Given the description of an element on the screen output the (x, y) to click on. 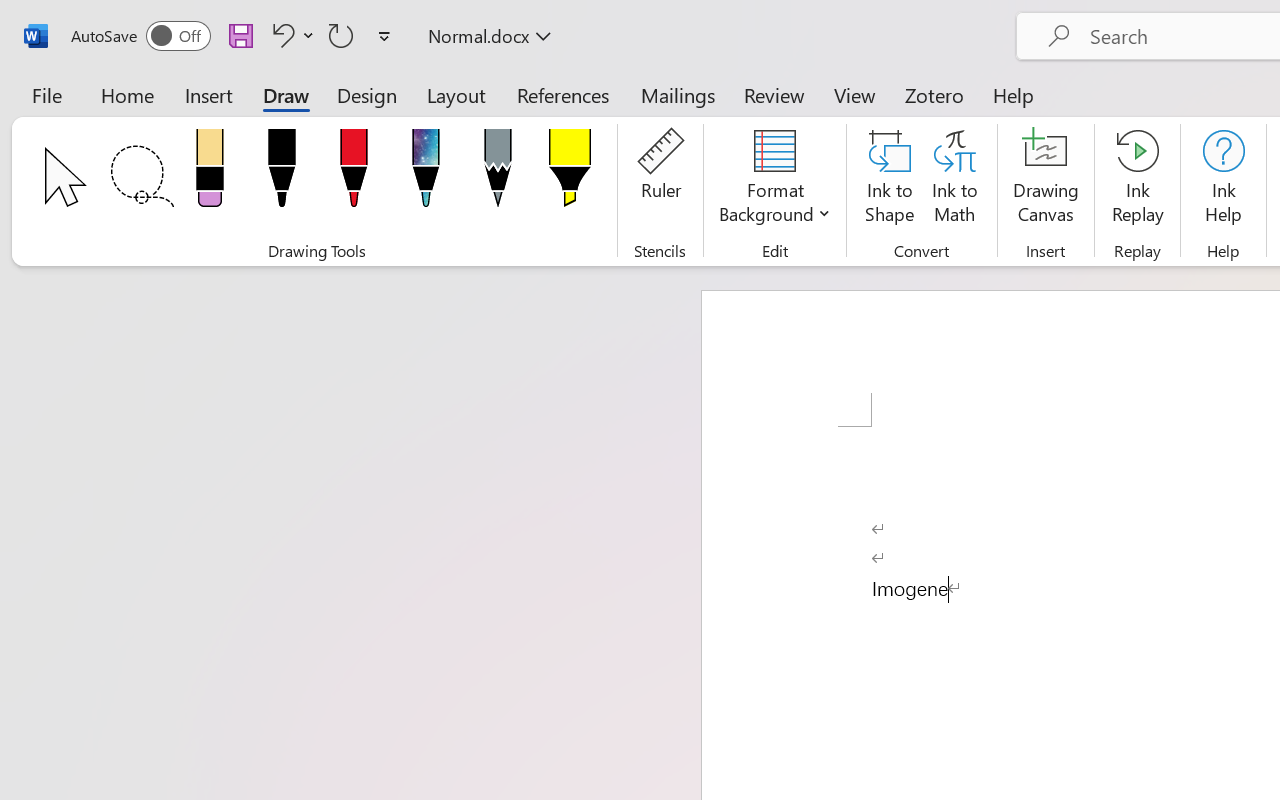
Pen: Red, 0.5 mm (353, 173)
Undo Paragraph Formatting (280, 35)
Pencil: Gray, 1 mm (497, 173)
Ink to Math (954, 179)
Ink to Shape (889, 179)
Format Background (774, 179)
